Given the description of an element on the screen output the (x, y) to click on. 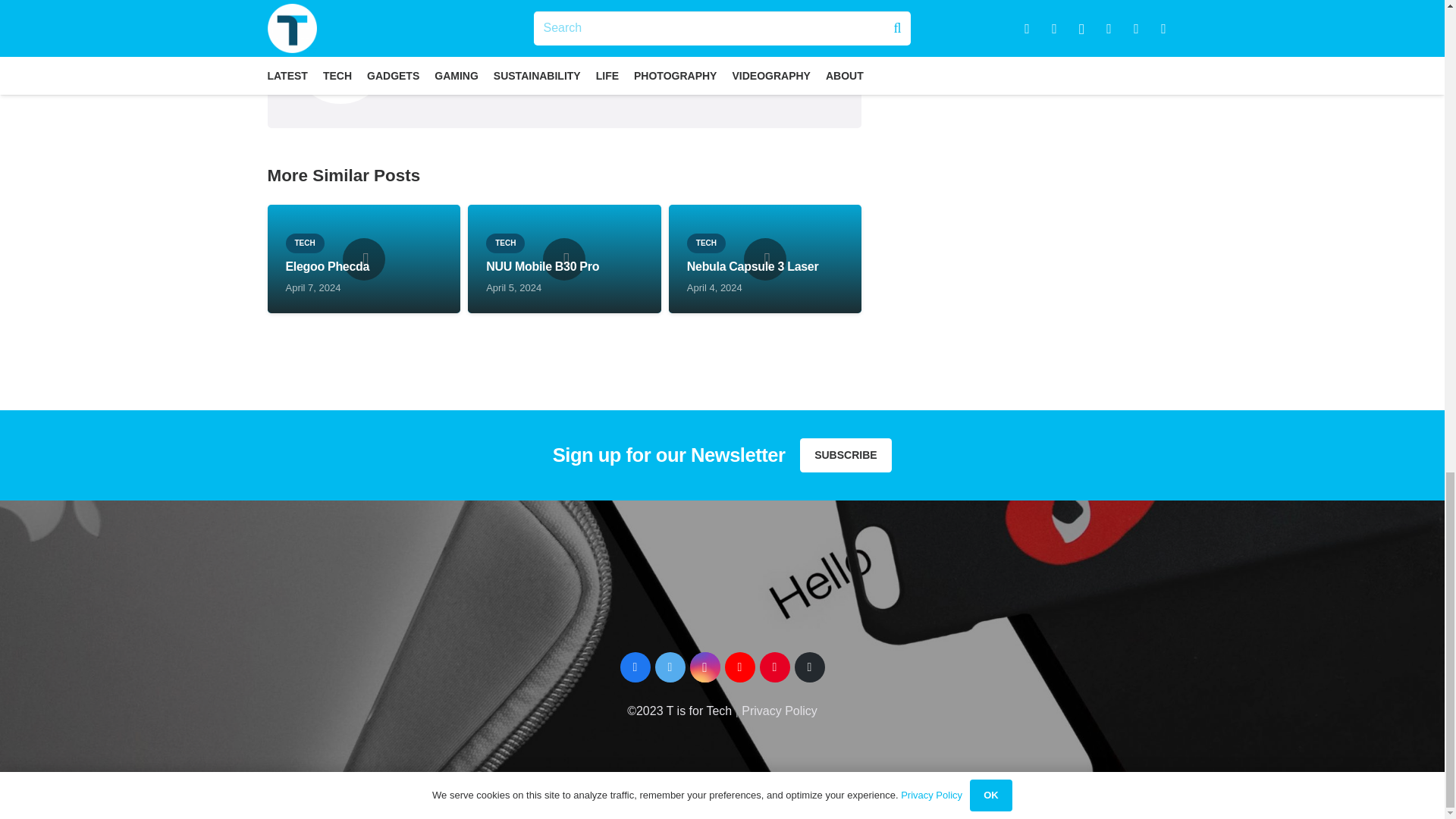
Facebook (635, 666)
